Given the description of an element on the screen output the (x, y) to click on. 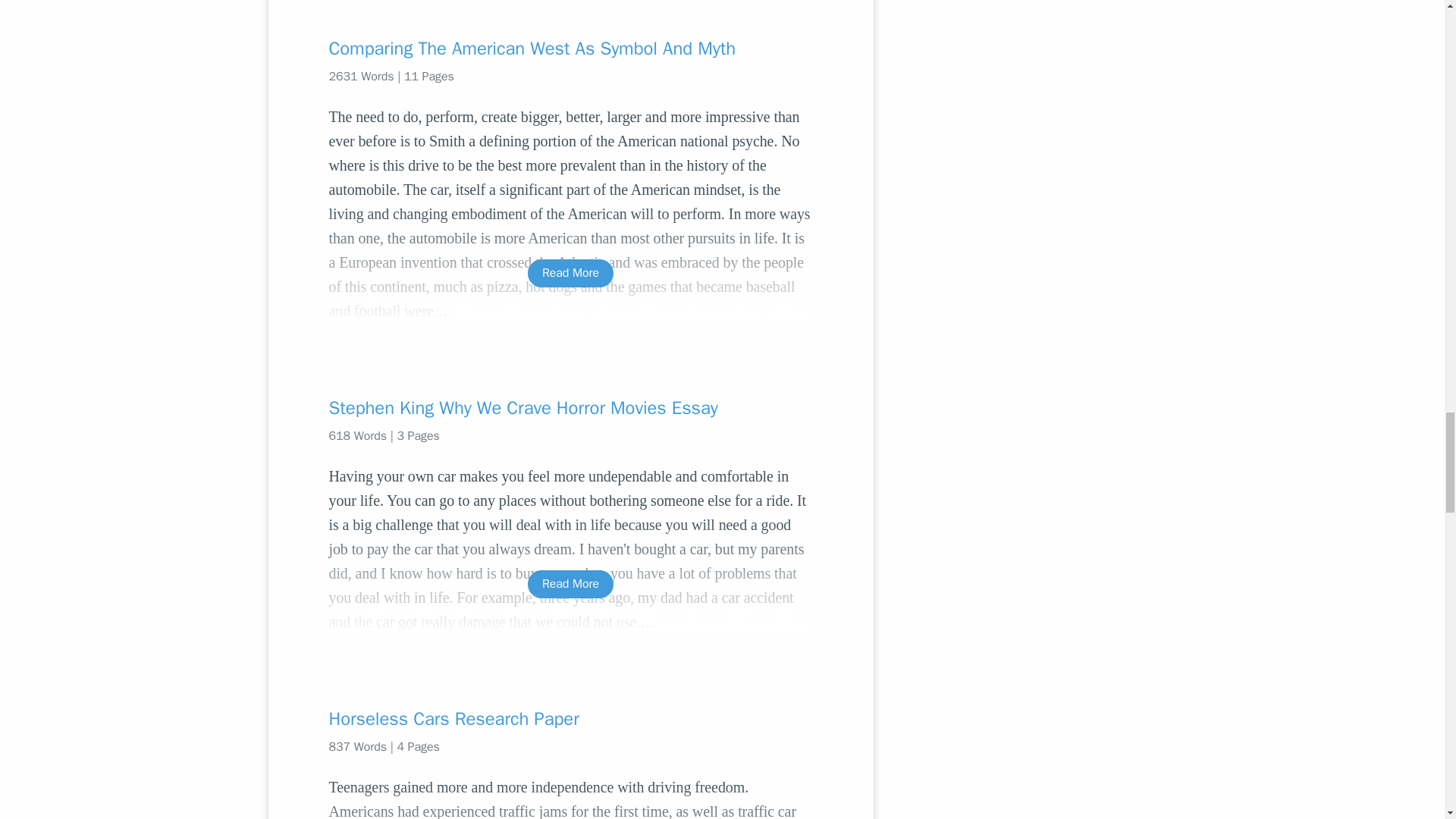
Read More (569, 584)
Read More (569, 273)
Horseless Cars Research Paper (570, 718)
Comparing The American West As Symbol And Myth (570, 48)
Stephen King Why We Crave Horror Movies Essay (570, 407)
